Given the description of an element on the screen output the (x, y) to click on. 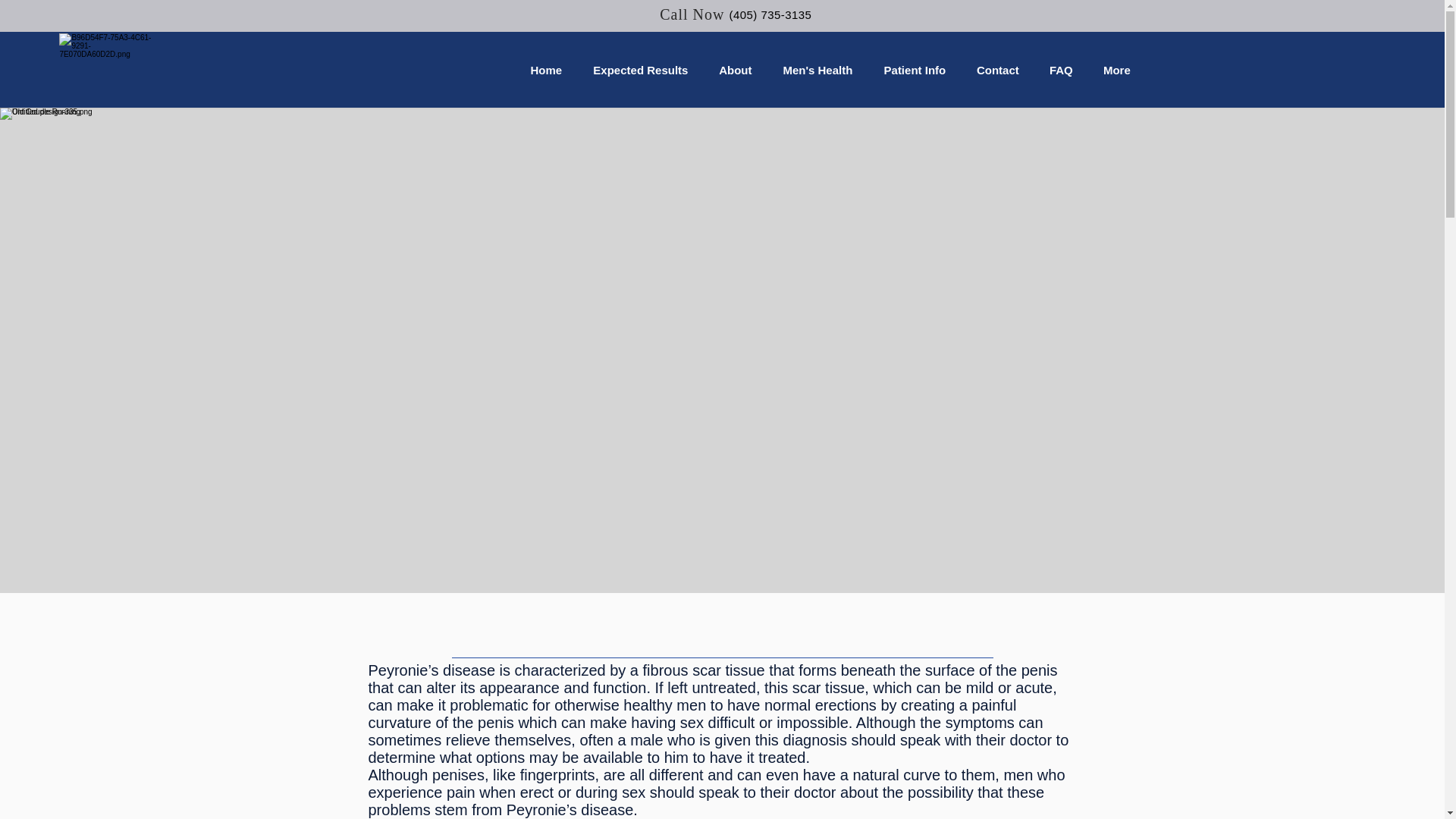
Men's Health (817, 70)
FAQ (1060, 70)
Home (546, 70)
9E88225E-5746-4AA9-A272-C268E5A5E99D.png (109, 70)
Patient Info (913, 70)
Contact (996, 70)
